Given the description of an element on the screen output the (x, y) to click on. 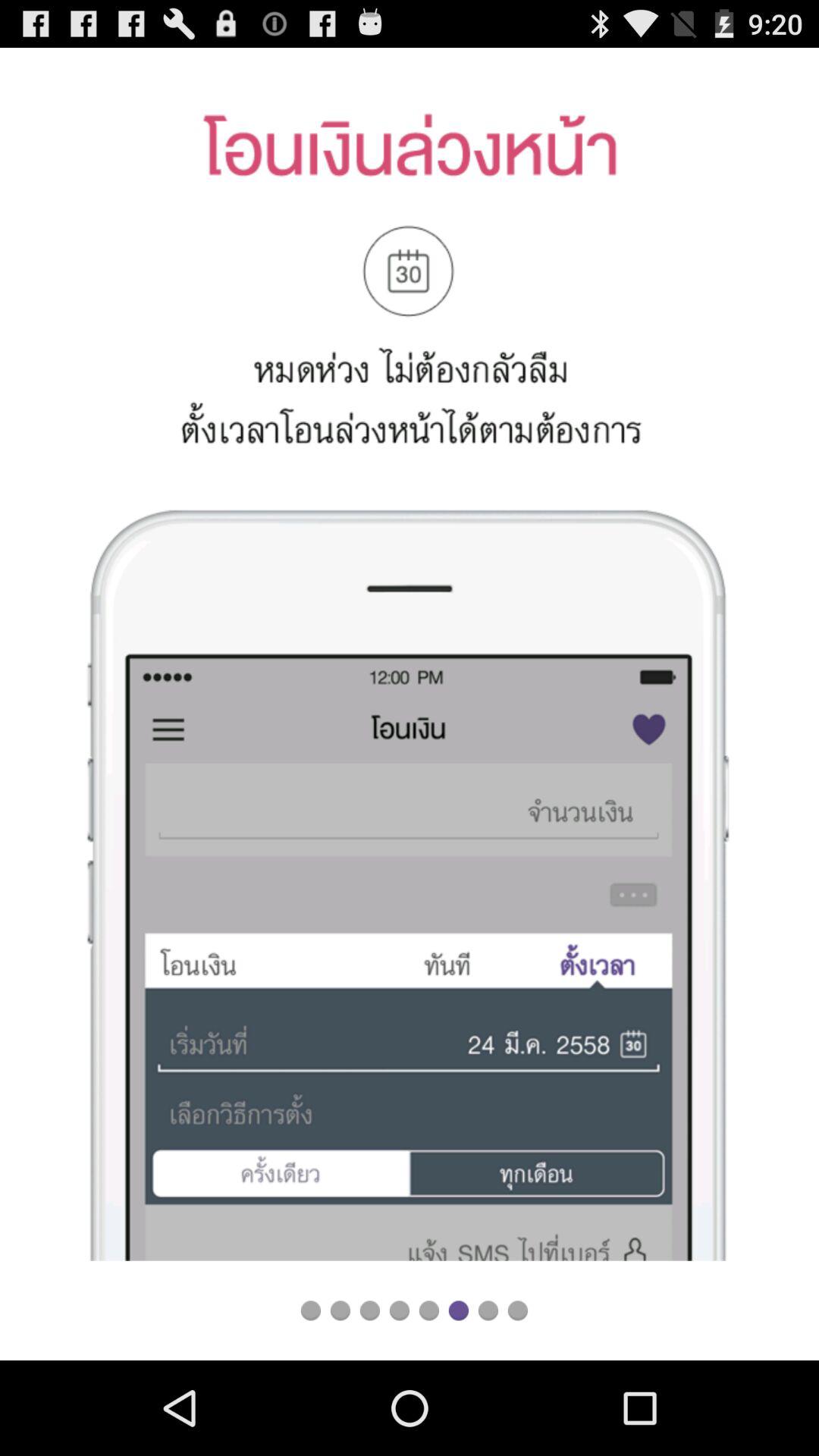
go back 3 pages (369, 1310)
